Given the description of an element on the screen output the (x, y) to click on. 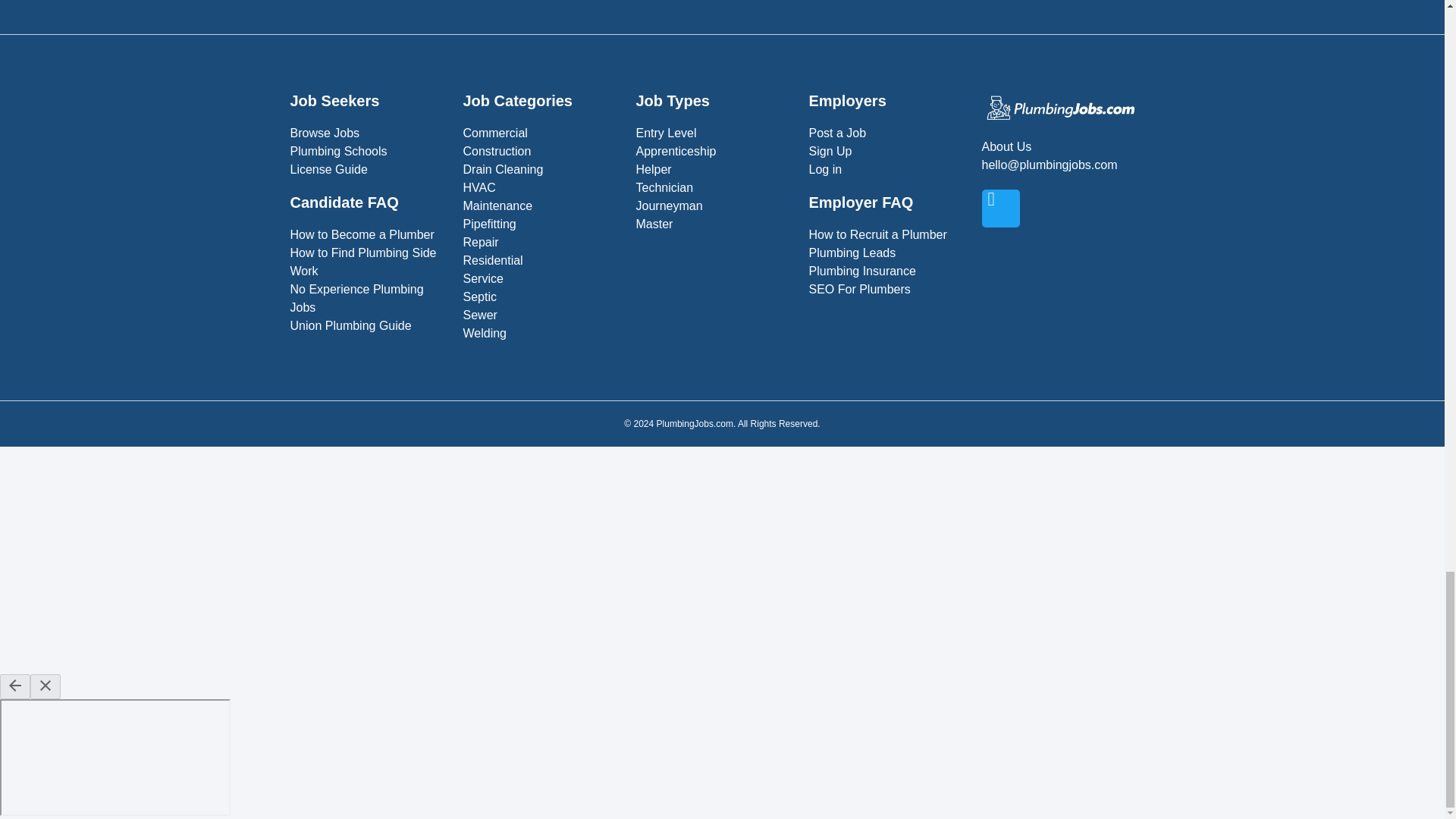
No Experience Plumbing Jobs (367, 298)
Construction (541, 151)
Repair (541, 242)
Plumbing Schools (367, 151)
Browse Jobs (367, 133)
Drain Cleaning (541, 169)
Service (541, 279)
Residential (541, 260)
Welding (541, 333)
